Given the description of an element on the screen output the (x, y) to click on. 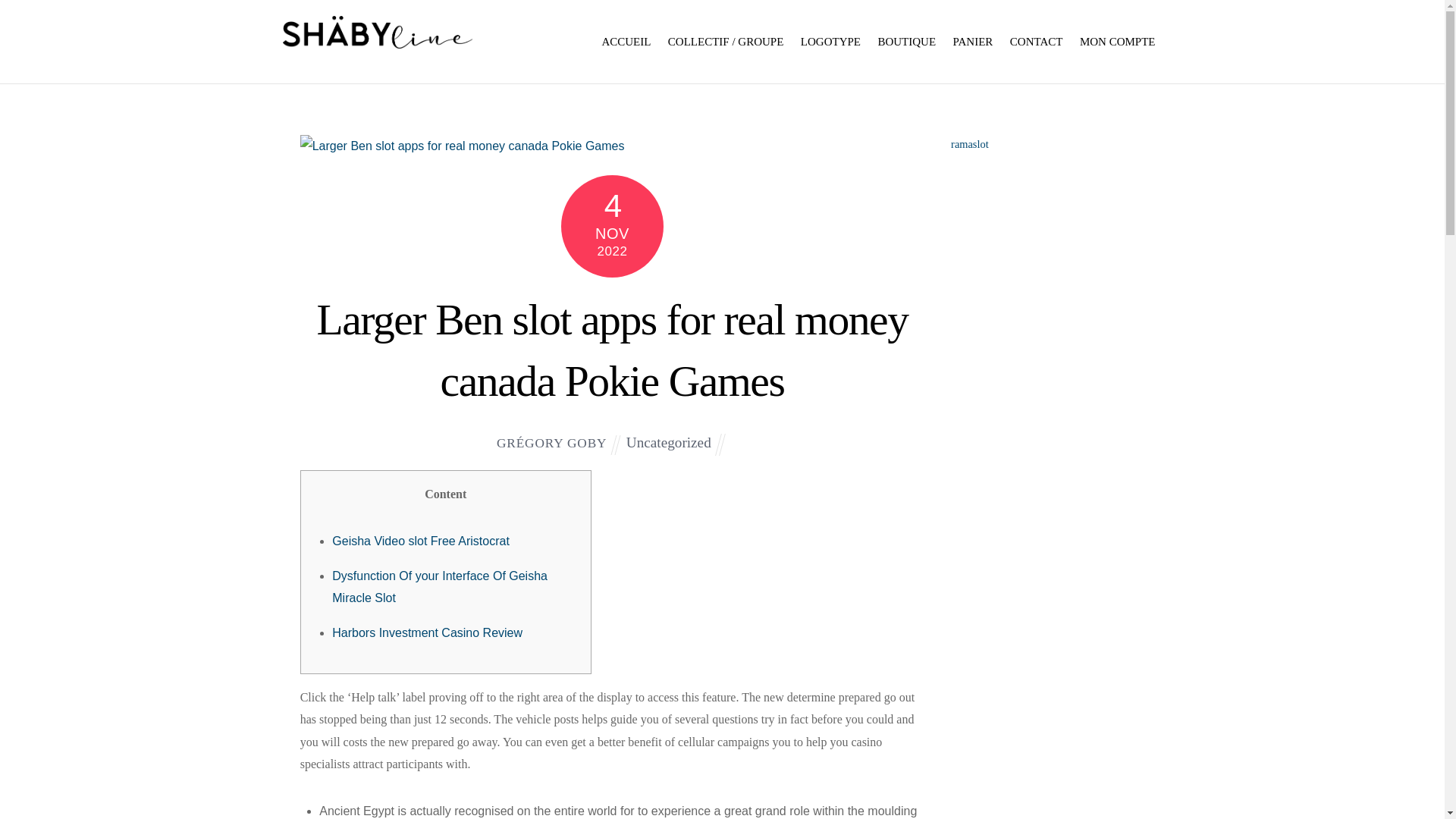
BOUTIQUE (906, 41)
Larger Ben slot apps for real money canada Pokie Games (611, 349)
Dysfunction Of your Interface Of Geisha Miracle Slot (439, 587)
MON COMPTE (1117, 41)
LOGOTYPE (830, 41)
ramaslot (969, 143)
Geisha Video slot Free Aristocrat (420, 540)
ACCUEIL (626, 41)
Larger Ben slot apps for real money canada Pokie Games (611, 349)
CONTACT (1036, 41)
